Given the description of an element on the screen output the (x, y) to click on. 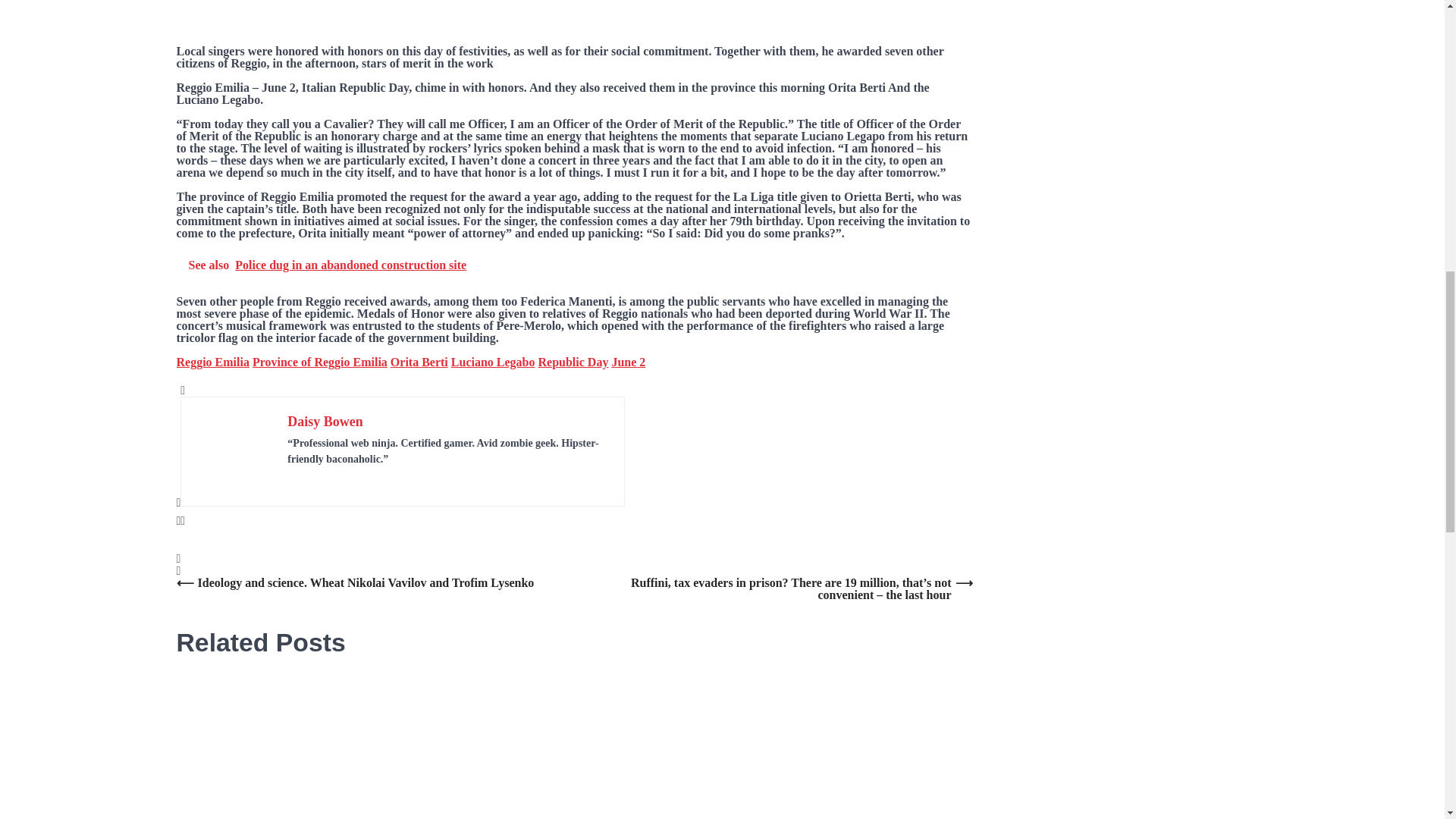
Republic Day (573, 361)
June 2 (628, 361)
Terra Amara goes ahead Sunday, July 2, 2023 (573, 751)
Daisy Bowen (324, 421)
Orita Berti (419, 361)
See also  Police dug in an abandoned construction site (574, 265)
Province of Reggio Emilia (319, 361)
Reggio Emilia (212, 361)
Luciano Legabo (493, 361)
